Given the description of an element on the screen output the (x, y) to click on. 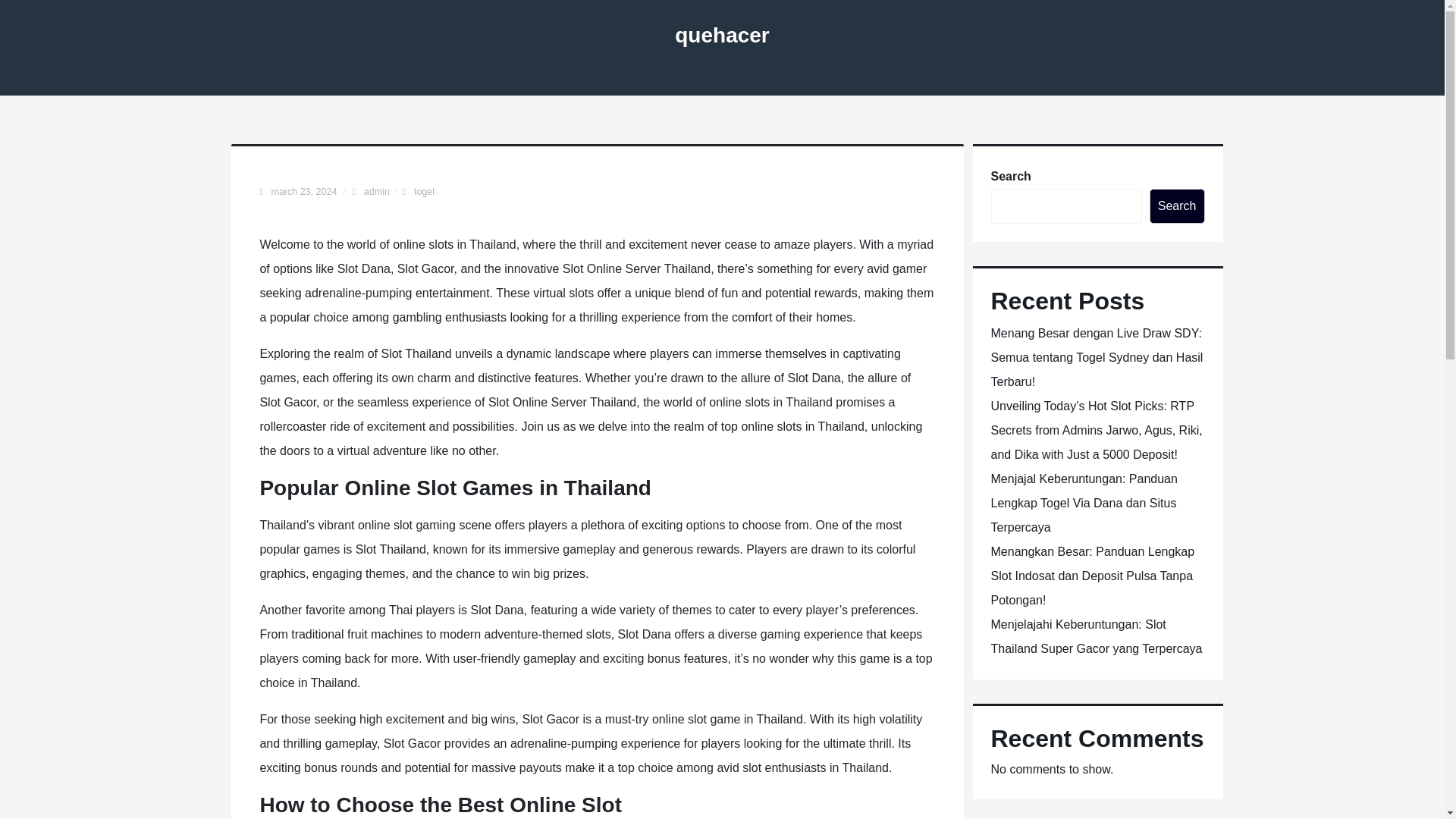
quehacer (722, 34)
Search (1177, 206)
togel (423, 191)
march 23, 2024 (304, 191)
admin (377, 191)
